Given the description of an element on the screen output the (x, y) to click on. 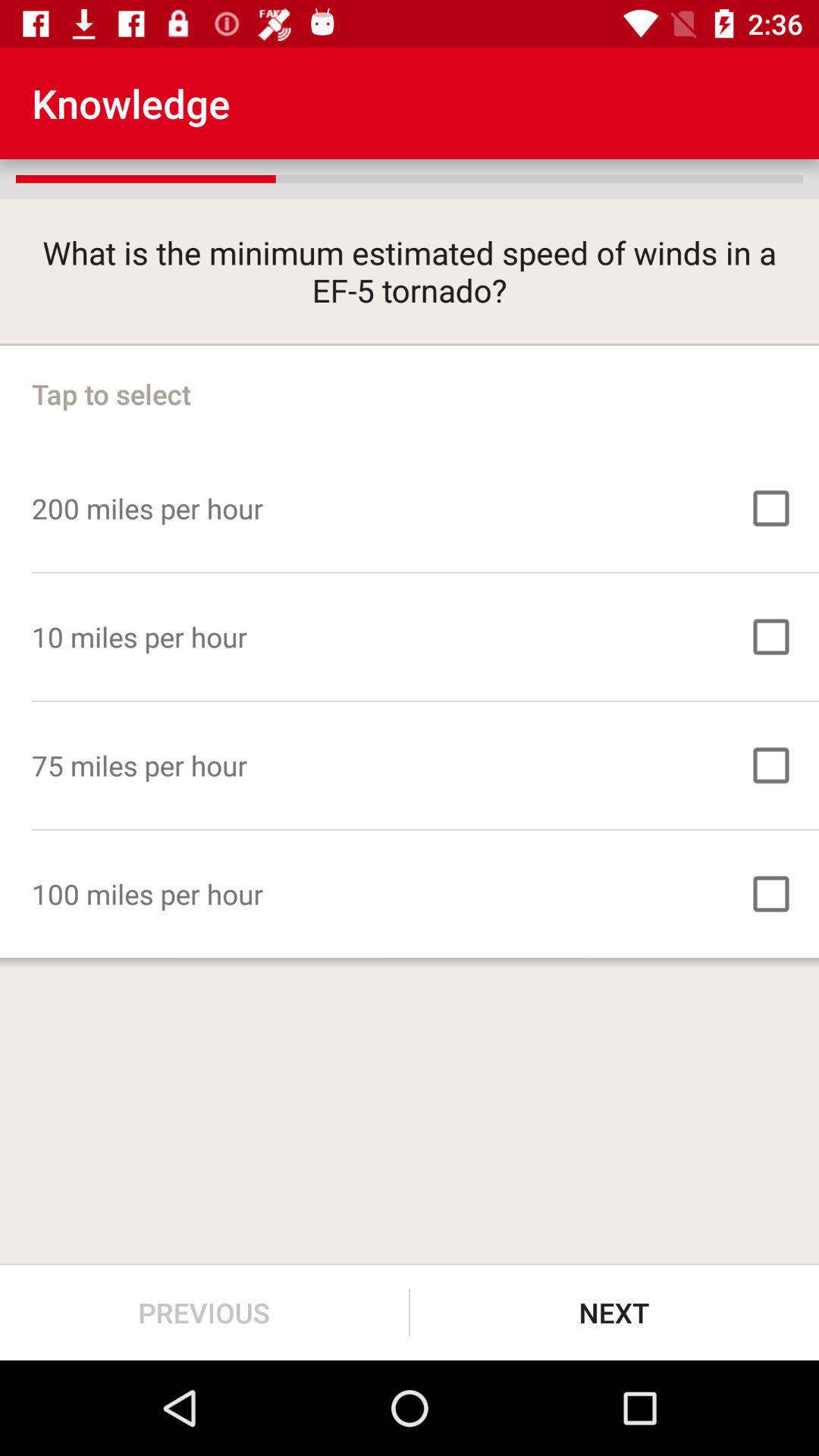
launch the item at the bottom left corner (204, 1312)
